Given the description of an element on the screen output the (x, y) to click on. 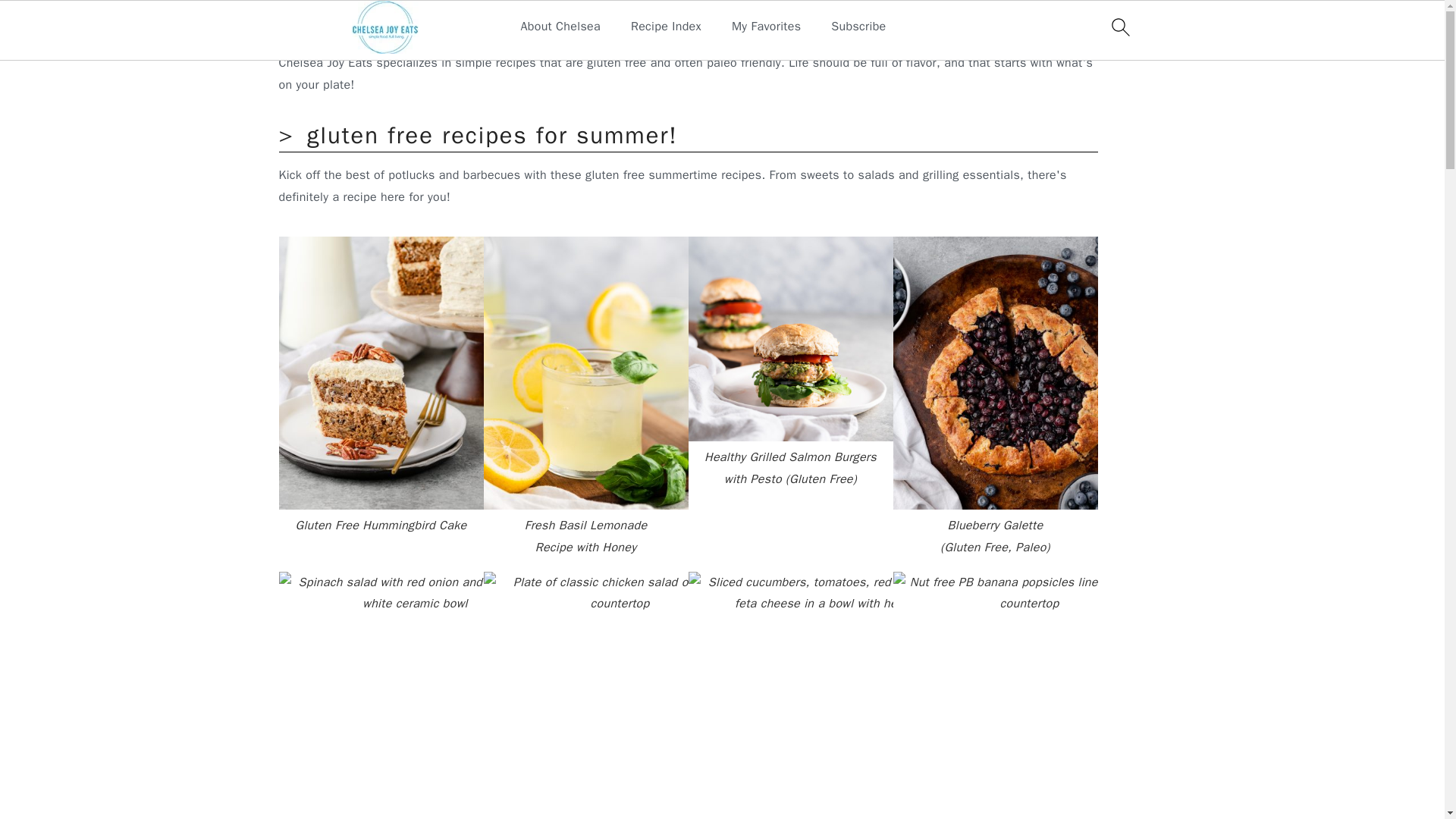
search icon (1119, 26)
Recipe Index (665, 26)
Subscribe (858, 26)
My Favorites (766, 26)
About Chelsea (559, 26)
